Given the description of an element on the screen output the (x, y) to click on. 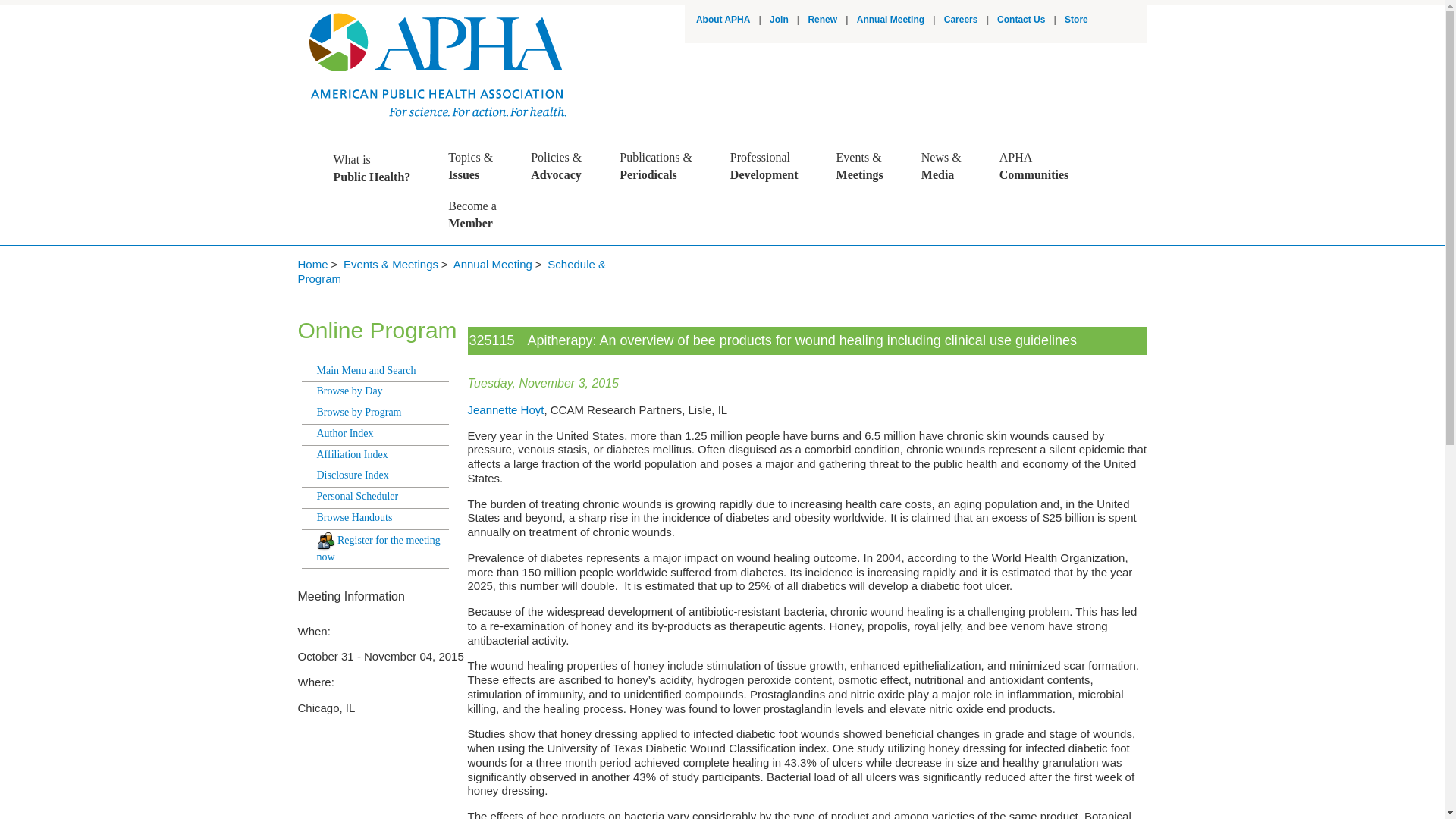
Renew (822, 19)
Careers (960, 19)
About APHA (723, 19)
Annual Meeting (890, 19)
Join (378, 169)
Contact Us (779, 19)
Store (772, 166)
